Given the description of an element on the screen output the (x, y) to click on. 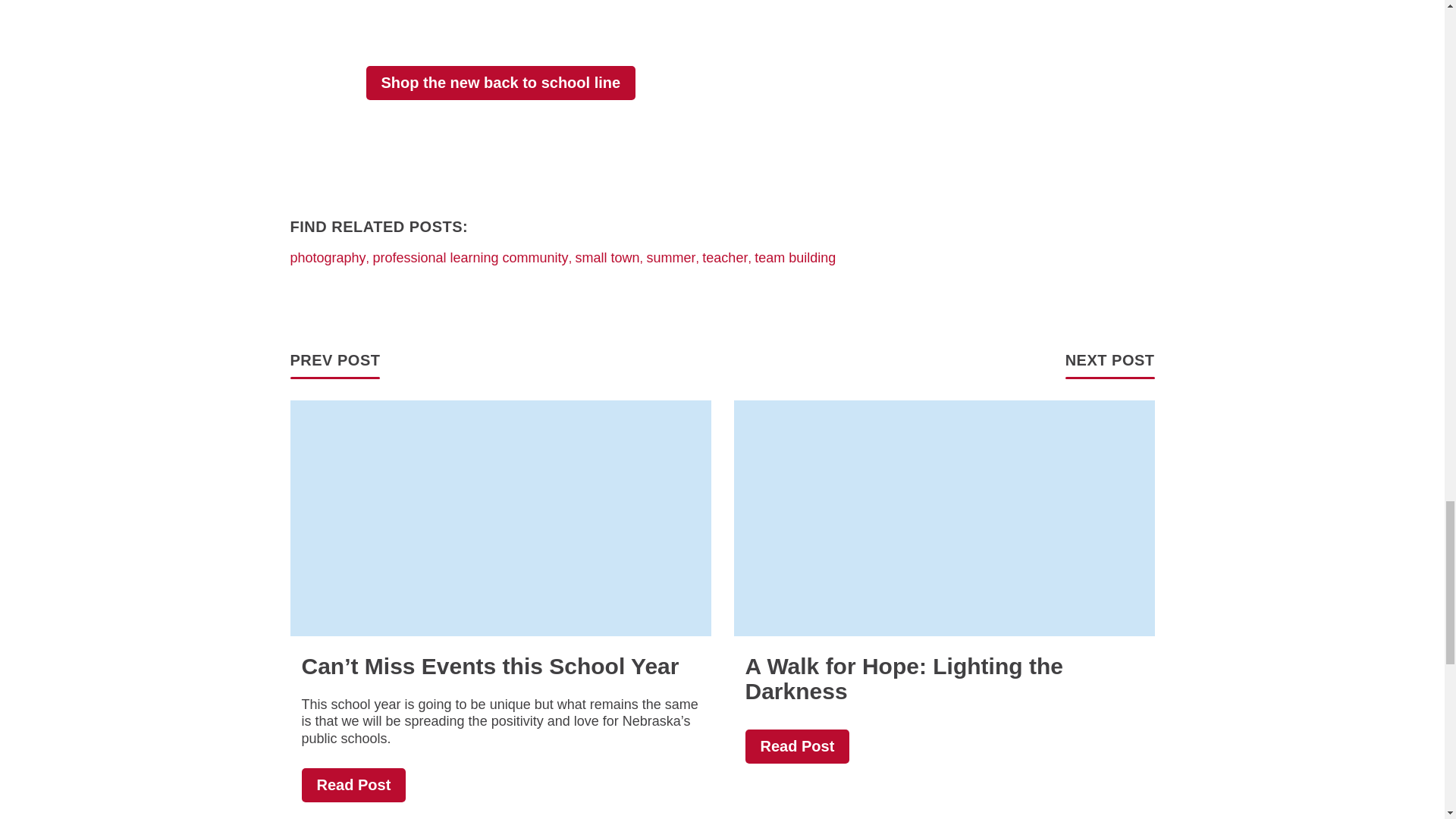
professional learning community (469, 258)
Shop the new back to school line (499, 82)
summer (670, 258)
small town (607, 258)
photography (327, 258)
